Given the description of an element on the screen output the (x, y) to click on. 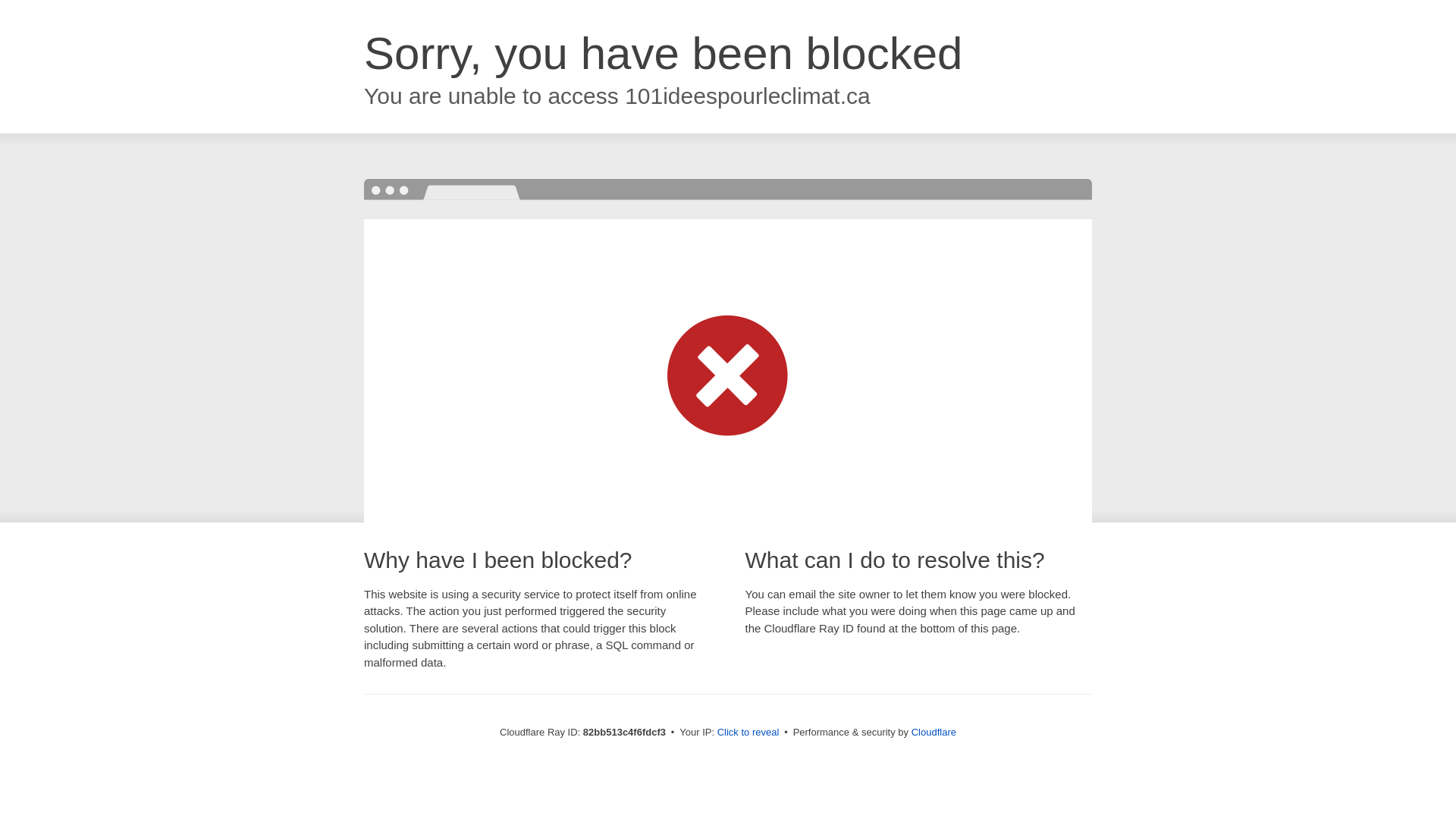
Click to reveal Element type: text (748, 732)
Cloudflare Element type: text (933, 731)
